Given the description of an element on the screen output the (x, y) to click on. 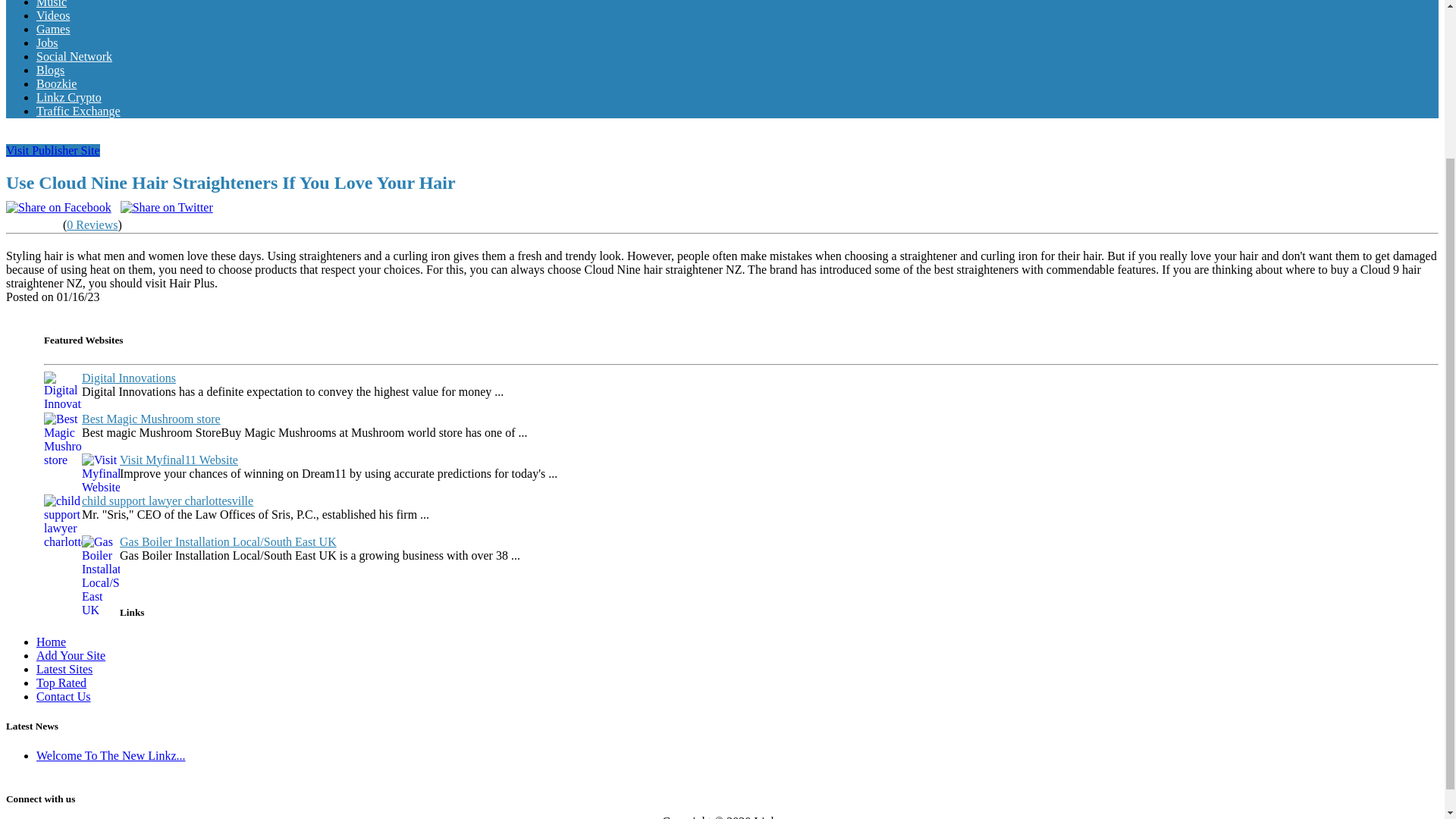
Top Rated (60, 682)
Traffic Exchange (78, 110)
Blogs (50, 69)
Social Network (74, 56)
Welcome To The New Linkz... (111, 755)
Latest Sites (64, 668)
Boozkie (56, 83)
Contact Us (63, 696)
Add Your Site (70, 655)
Jobs (47, 42)
Videos (52, 15)
Music (51, 4)
Games (52, 29)
Visit Myfinal11 Website (178, 459)
Digital Innovations (128, 377)
